Given the description of an element on the screen output the (x, y) to click on. 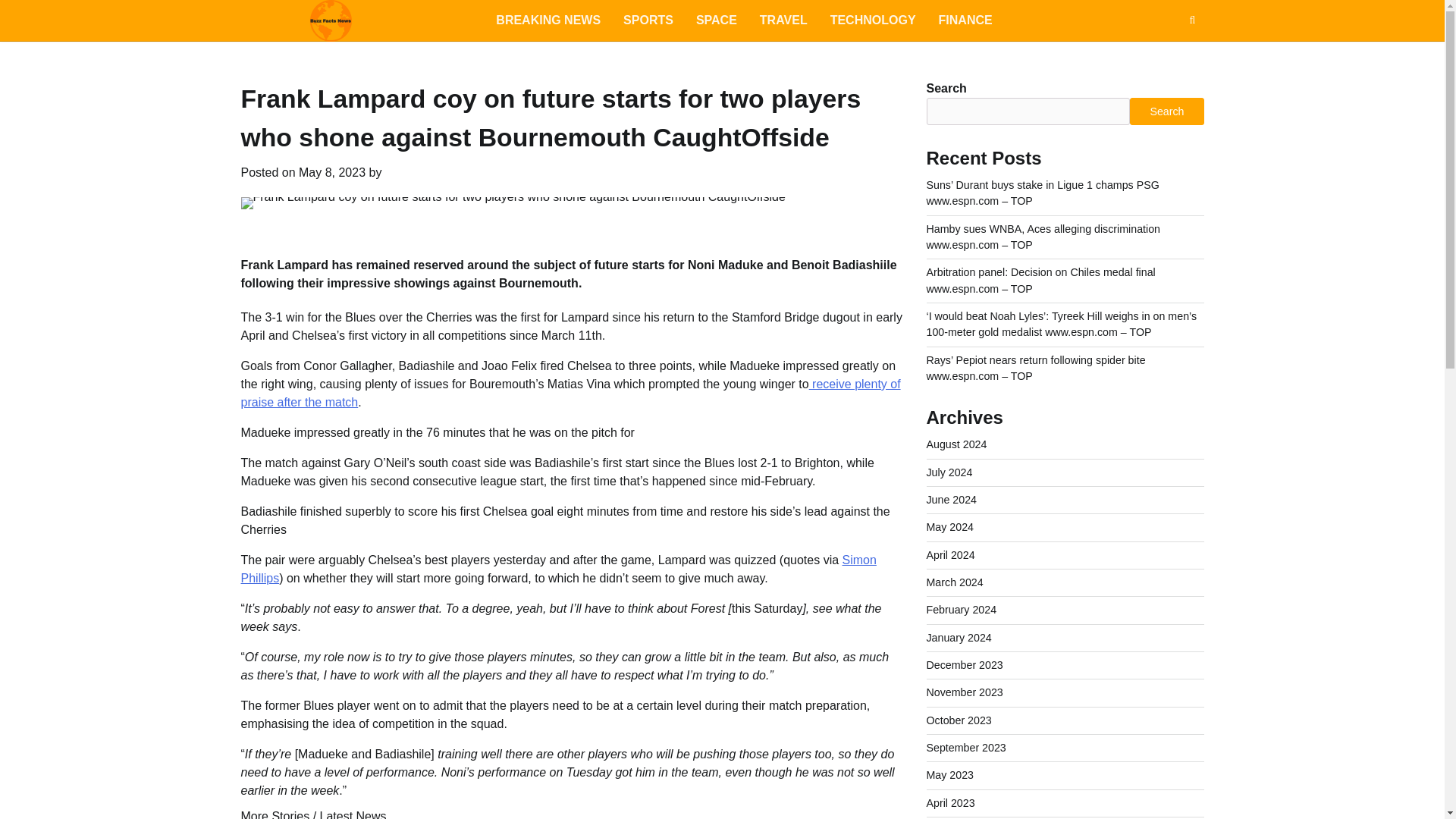
FINANCE (965, 20)
BREAKING NEWS (547, 20)
SPORTS (647, 20)
SPACE (716, 20)
TECHNOLOGY (872, 20)
TRAVEL (783, 20)
Search (1164, 55)
May 8, 2023 (331, 172)
Search (1192, 20)
Simon Phillips (558, 568)
